Given the description of an element on the screen output the (x, y) to click on. 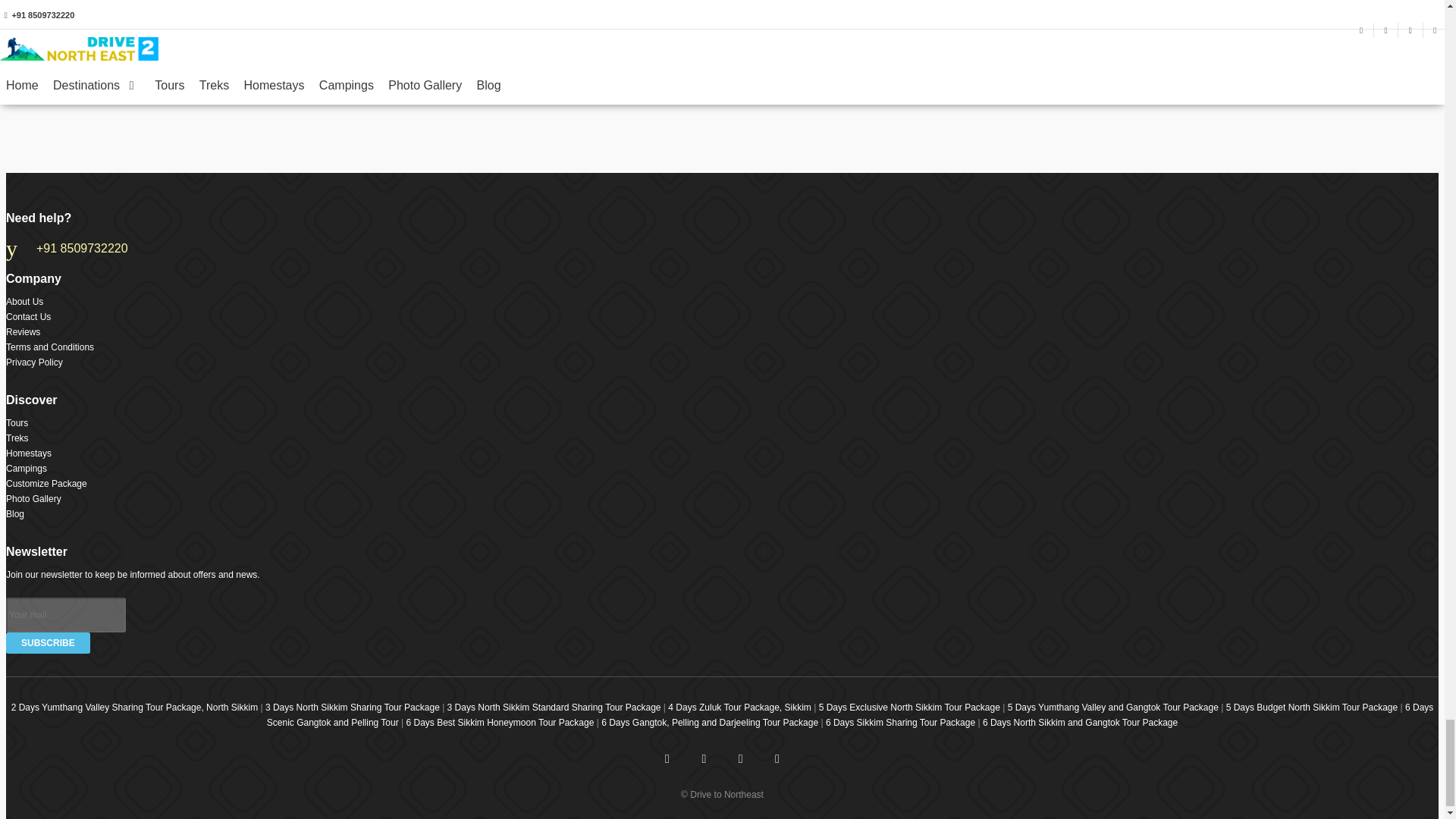
Subscribe (47, 642)
